Given the description of an element on the screen output the (x, y) to click on. 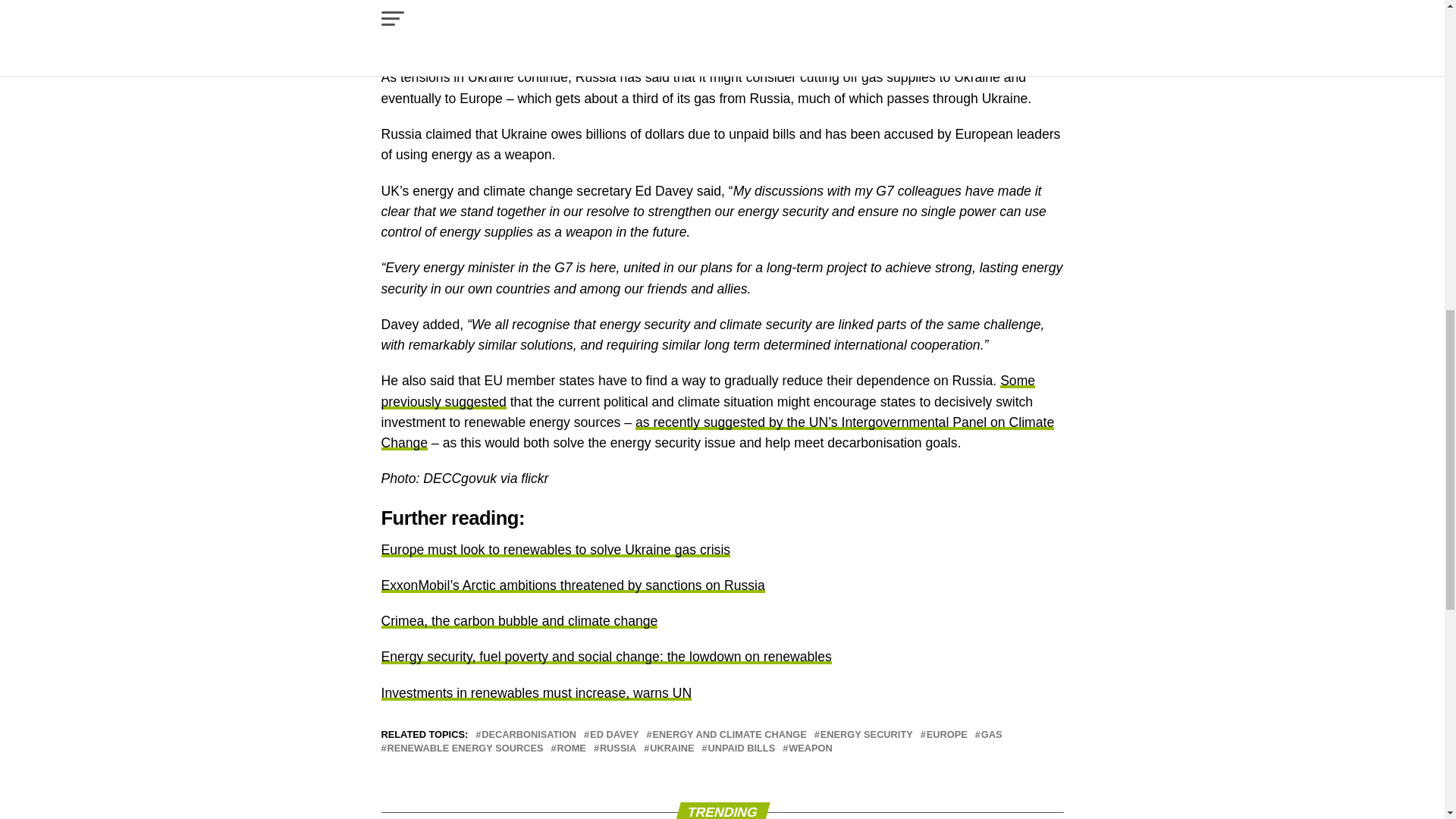
DECARBONISATION (528, 735)
UNPAID BILLS (741, 748)
Crimea, the carbon bubble and climate change (519, 620)
WEAPON (810, 748)
RUSSIA (617, 748)
Investments in renewables must increase, warns UN (535, 693)
RENEWABLE ENERGY SOURCES (465, 748)
Some previously suggested (707, 390)
ENERGY AND CLIMATE CHANGE (729, 735)
